Given the description of an element on the screen output the (x, y) to click on. 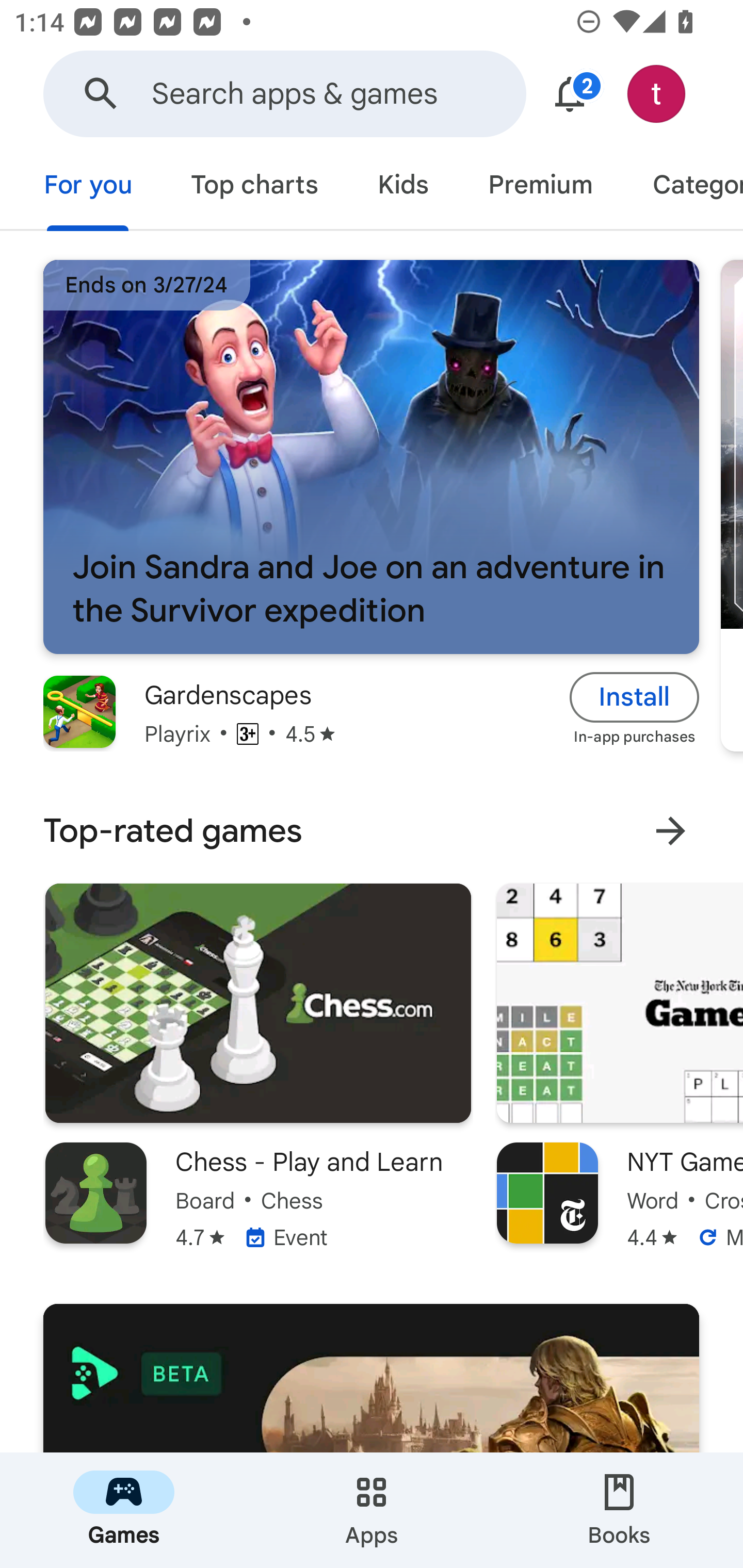
Search Google Play Search apps & games (284, 93)
Search Google Play (100, 93)
Top charts (254, 187)
Kids (402, 187)
Premium (540, 187)
Categories (682, 187)
Install (634, 696)
Top-rated games More results for Top-rated games (371, 830)
More results for Top-rated games (670, 830)
Apps (371, 1509)
Books (619, 1509)
